Given the description of an element on the screen output the (x, y) to click on. 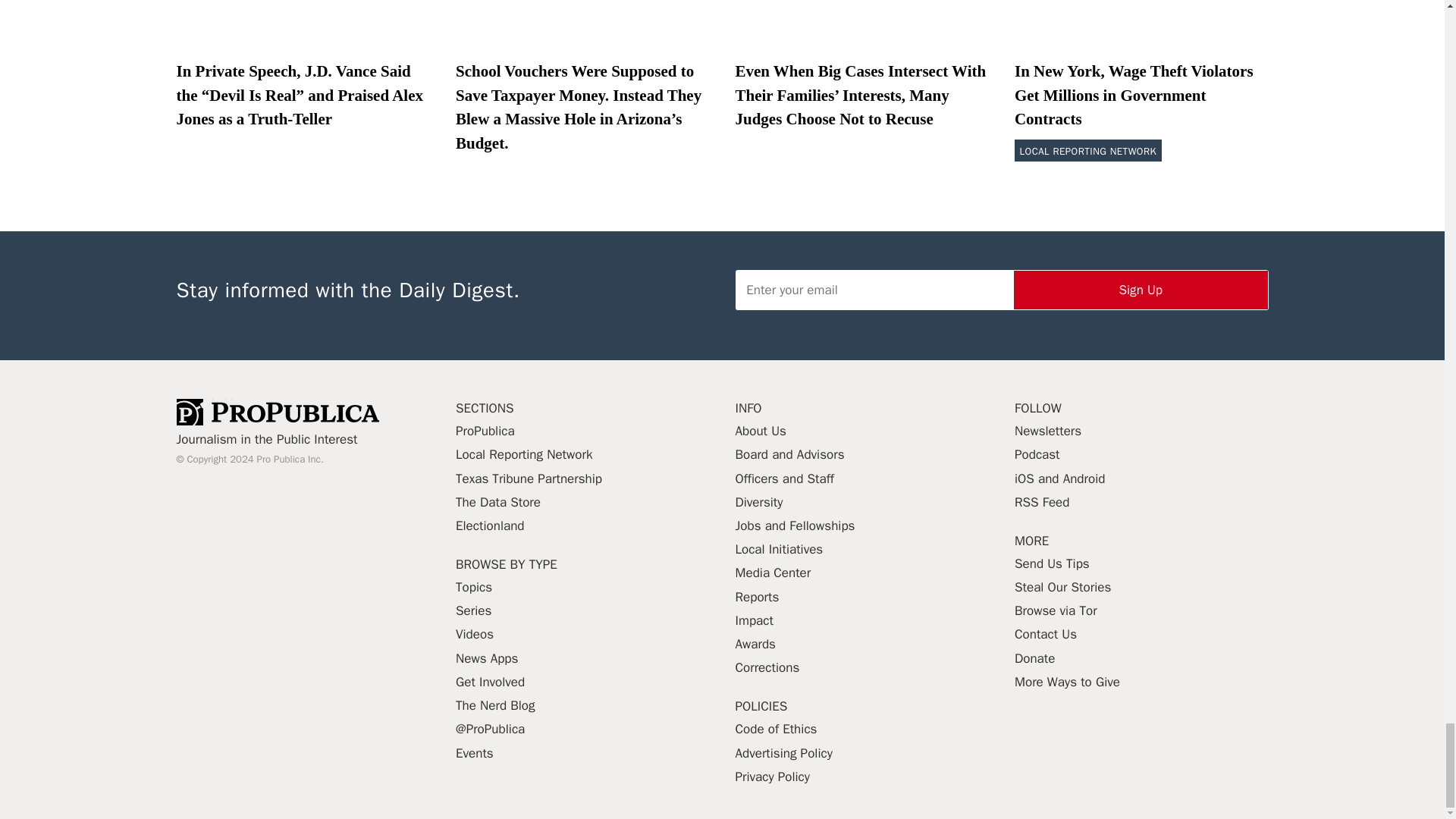
Sign Up (1140, 290)
